Given the description of an element on the screen output the (x, y) to click on. 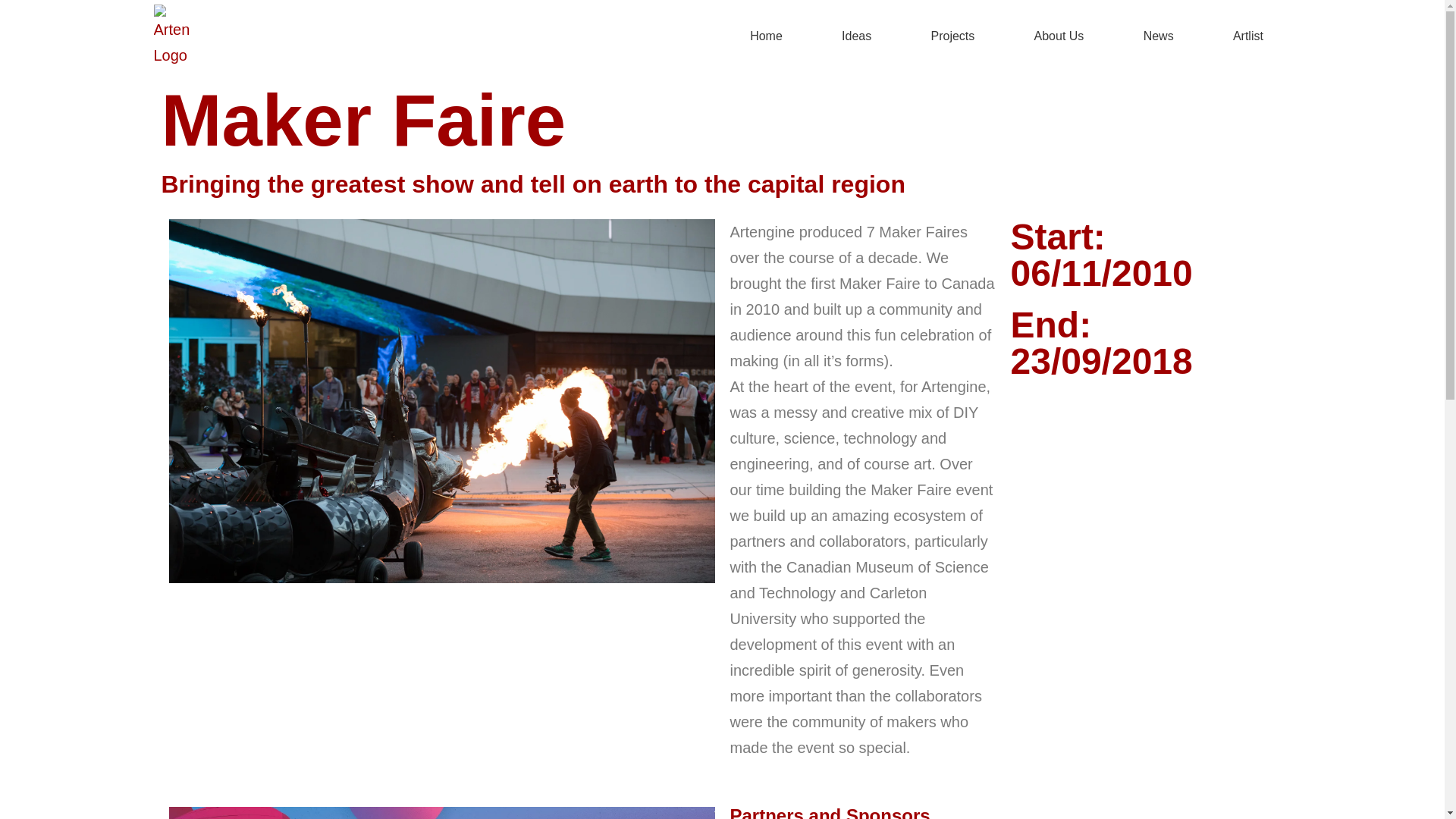
News Element type: text (1158, 35)
Projects Element type: text (952, 35)
About Us Element type: text (1058, 35)
Home Element type: text (765, 35)
Artengine Logo Element type: hover (171, 36)
Ideas Element type: text (855, 35)
Artlist Element type: text (1247, 35)
